Given the description of an element on the screen output the (x, y) to click on. 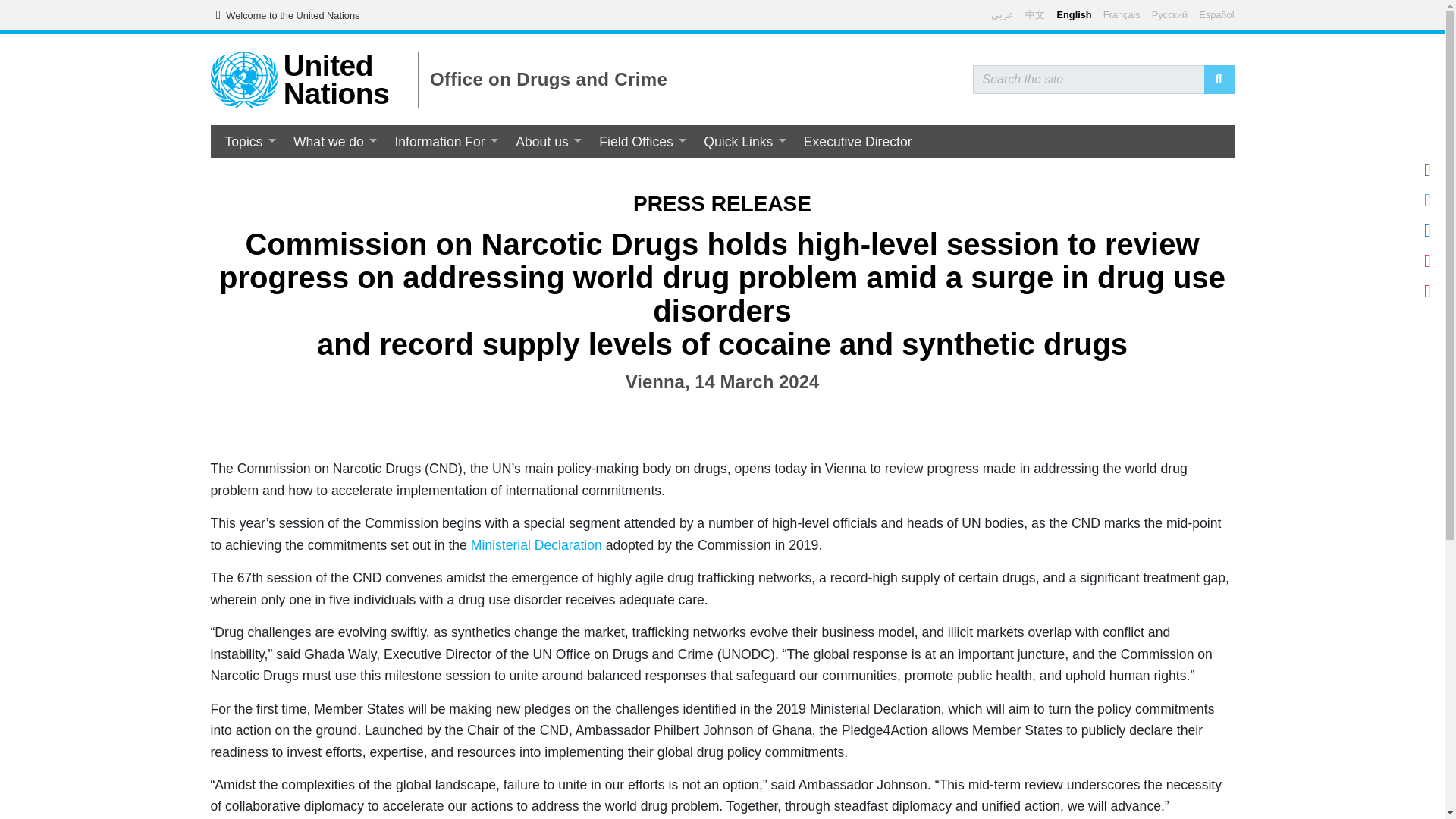
Welcome to the United Nations (283, 14)
English (1073, 14)
Topics (249, 141)
United Nations (336, 79)
Office on Drugs and Crime (547, 78)
